Given the description of an element on the screen output the (x, y) to click on. 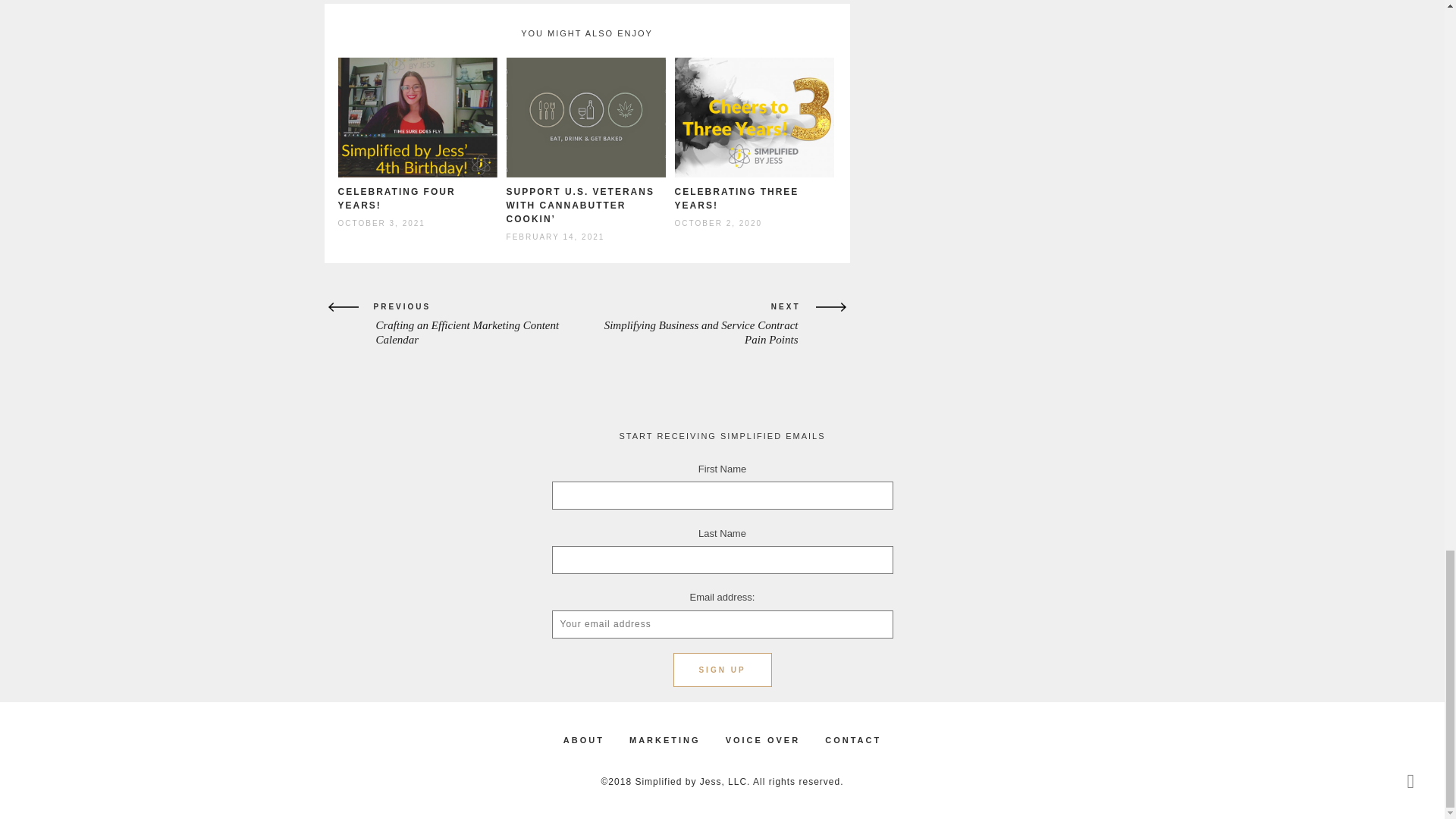
CELEBRATING FOUR YEARS! (396, 198)
CELEBRATING THREE YEARS! (737, 198)
ABOUT (583, 739)
Sign up (721, 669)
Sign up (721, 669)
